Given the description of an element on the screen output the (x, y) to click on. 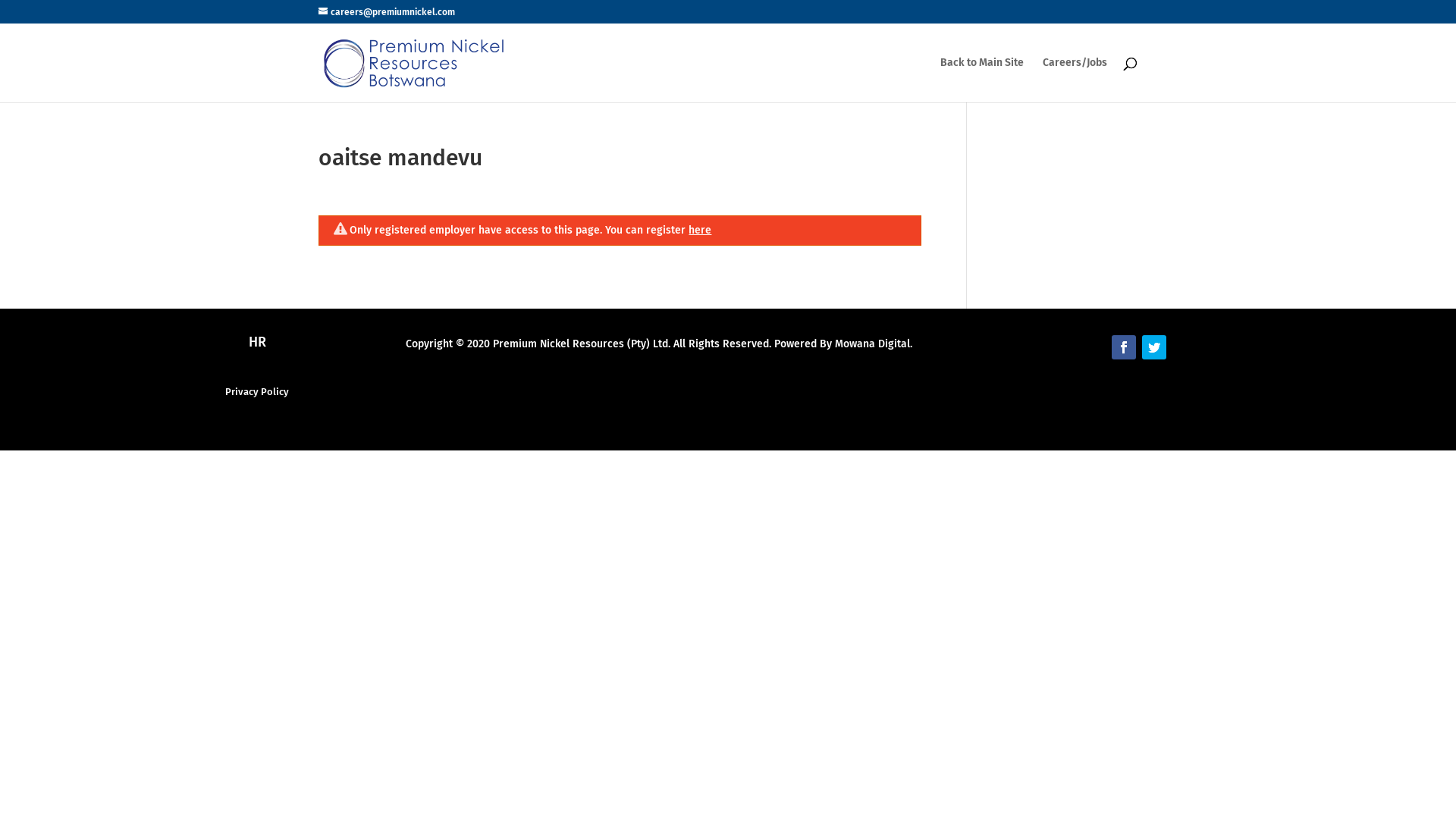
Careers/Jobs Element type: text (1074, 79)
Back to Main Site Element type: text (981, 79)
Follow on Facebook Element type: hover (1123, 347)
HR Element type: text (257, 341)
Privacy Policy Element type: text (256, 391)
here Element type: text (699, 229)
careers@premiumnickel.com Element type: text (386, 11)
Follow on Twitter Element type: hover (1154, 347)
